Given the description of an element on the screen output the (x, y) to click on. 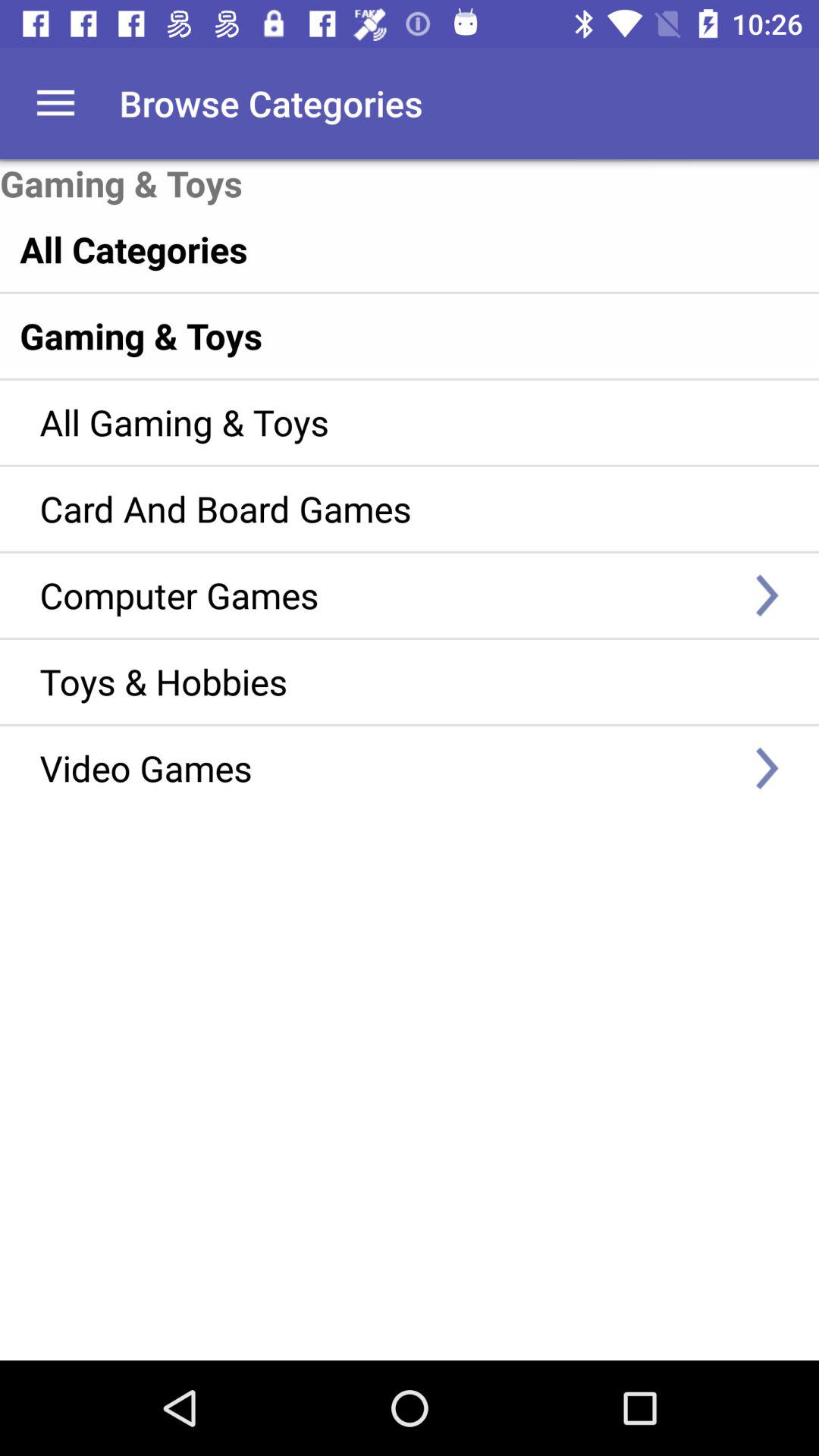
press all categories (377, 249)
